Given the description of an element on the screen output the (x, y) to click on. 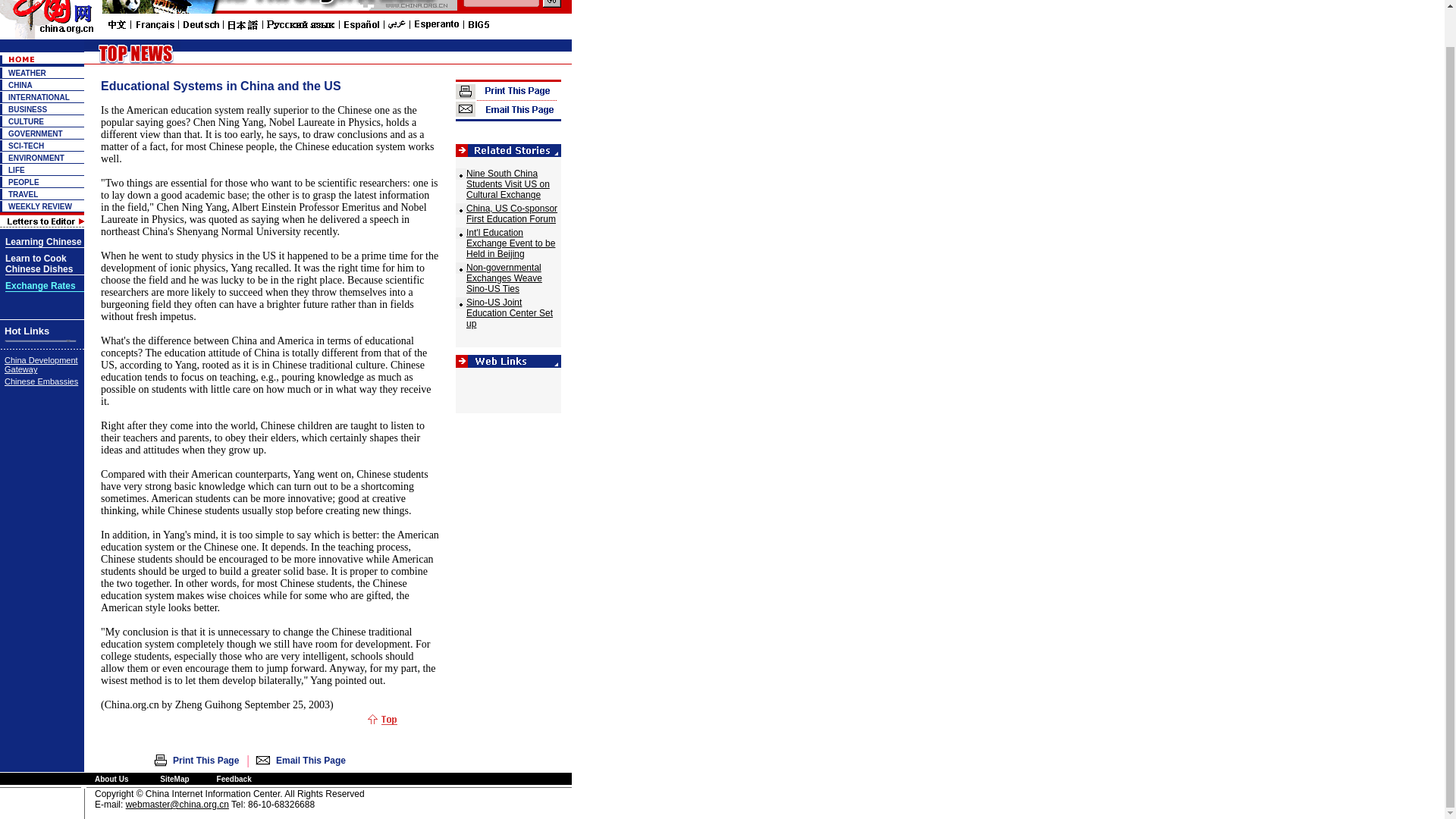
ENVIRONMENT (36, 157)
Non-governmental Exchanges Weave Sino-US Ties (503, 278)
WEATHER (27, 72)
SiteMap (174, 777)
Int'l Education Exchange Event to be Held in Beijing (509, 243)
Nine South China Students Visit US on Cultural Exchange (507, 183)
Learning Chinese (43, 242)
INTERNATIONAL (38, 97)
Email This Page (311, 760)
China Development Gateway (41, 364)
